Given the description of an element on the screen output the (x, y) to click on. 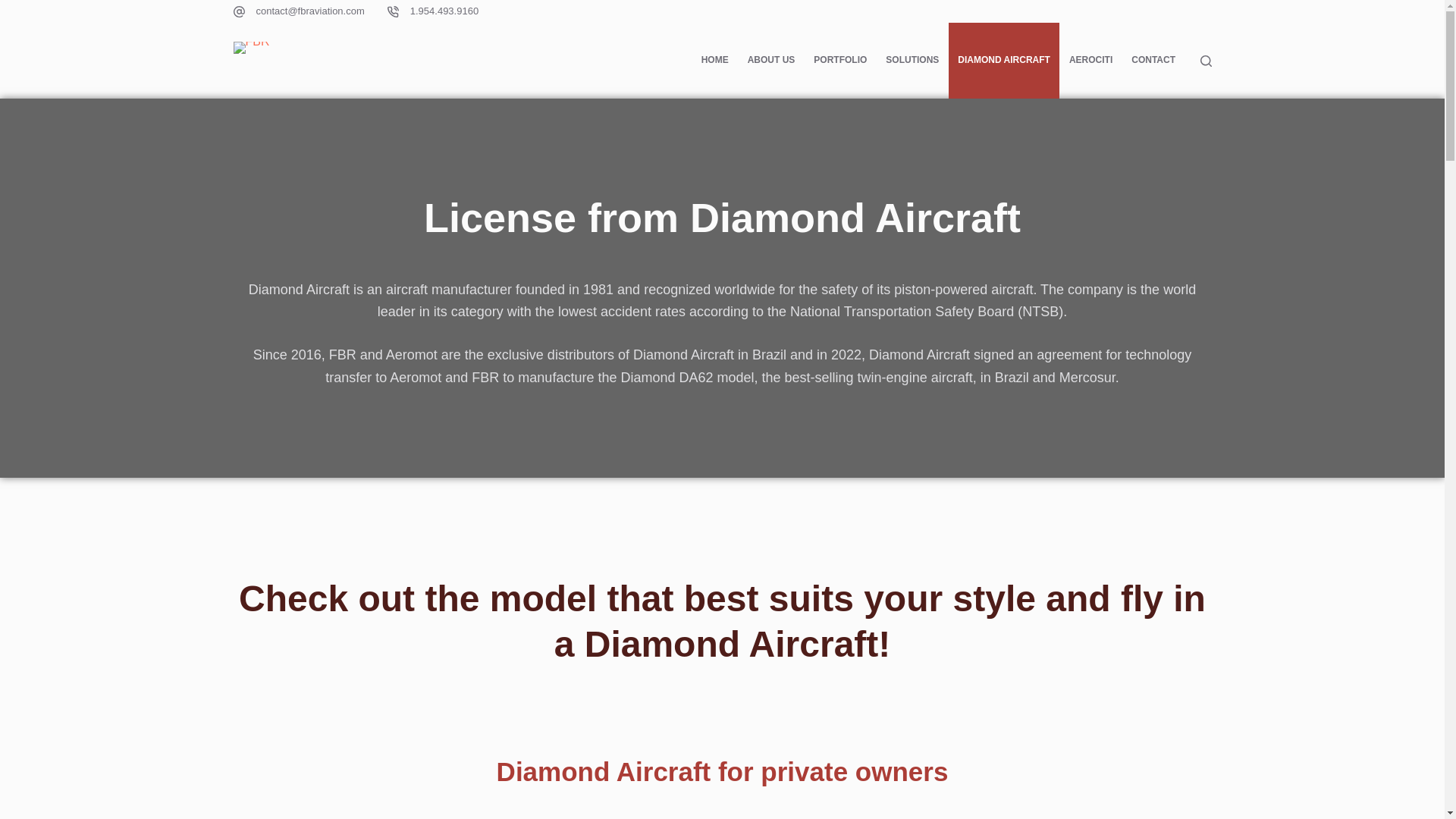
1.954.493.9160 (444, 10)
DIAMOND AIRCRAFT (1004, 60)
SOLUTIONS (912, 60)
PORTFOLIO (840, 60)
